Given the description of an element on the screen output the (x, y) to click on. 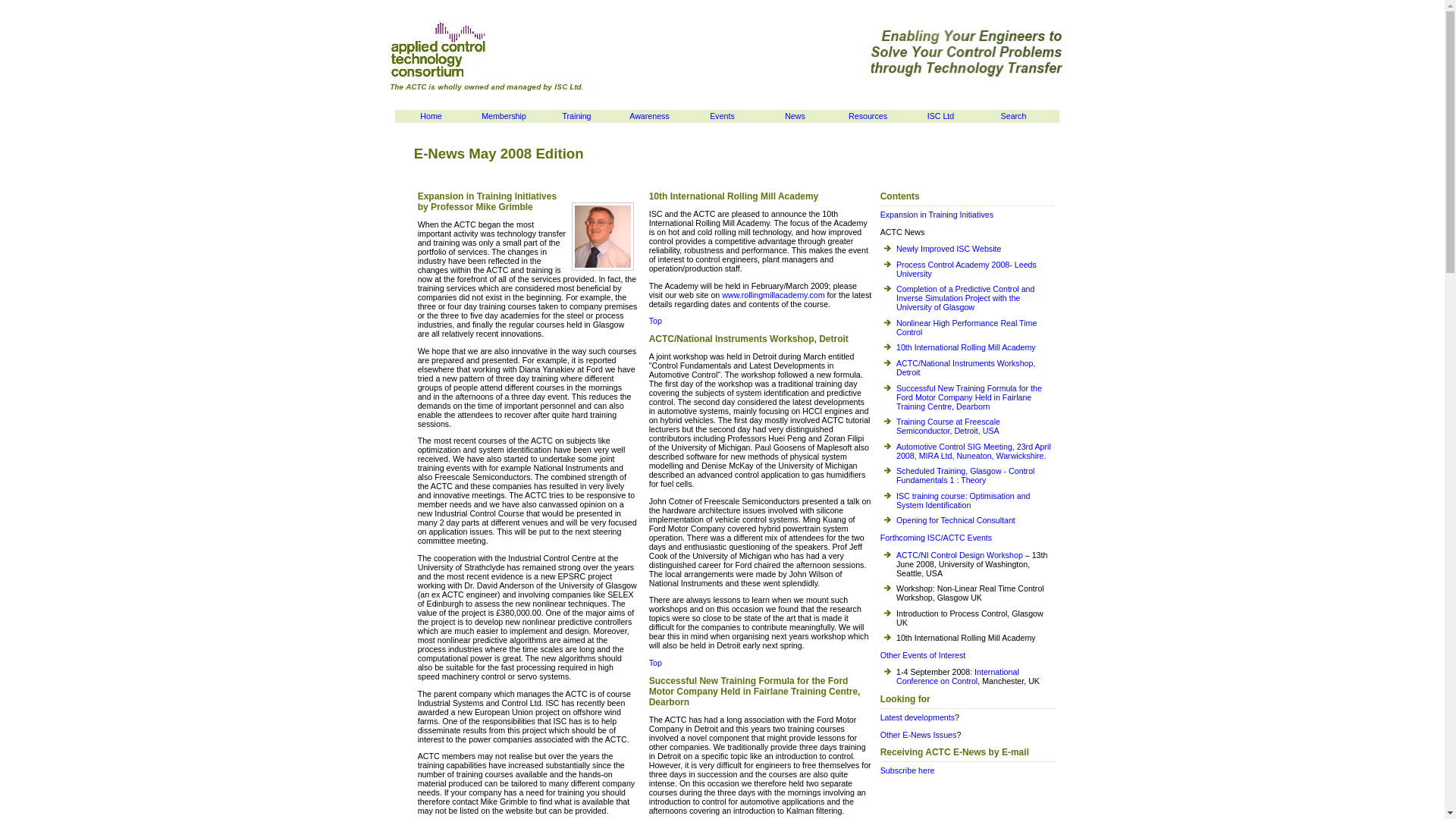
Home (430, 115)
Training (576, 115)
Search (1012, 115)
Membership (503, 115)
Events (721, 115)
Resources (867, 115)
Awareness (648, 115)
News (794, 115)
ISC Ltd (527, 203)
